Given the description of an element on the screen output the (x, y) to click on. 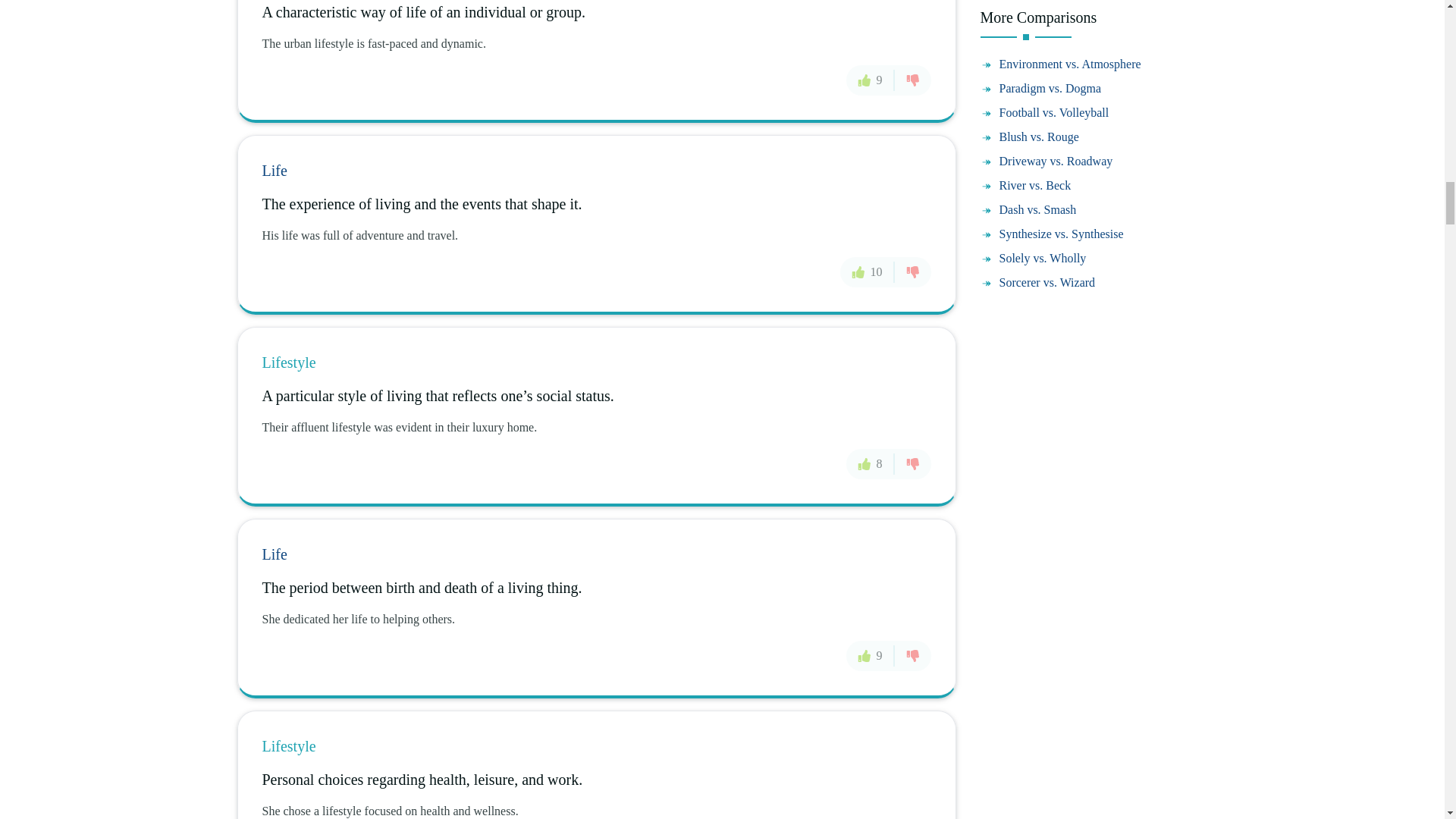
10 (867, 271)
9 (870, 80)
8 (870, 463)
9 (870, 654)
